Given the description of an element on the screen output the (x, y) to click on. 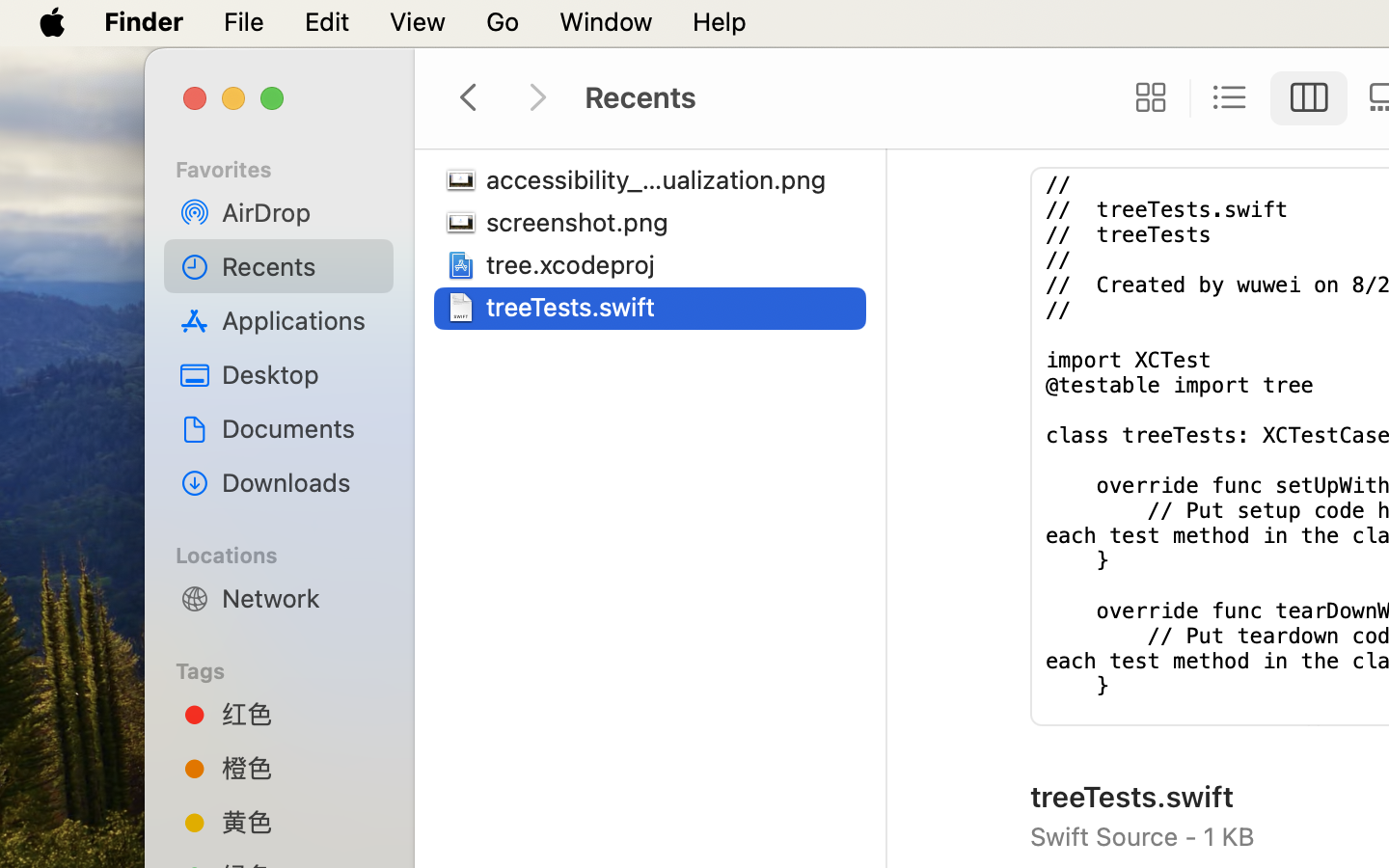
Desktop Element type: AXStaticText (299, 373)
Locations Element type: AXStaticText (289, 552)
红色 Element type: AXStaticText (299, 713)
accessibility_visualization.png Element type: AXTextField (661, 178)
Downloads Element type: AXStaticText (299, 481)
